Given the description of an element on the screen output the (x, y) to click on. 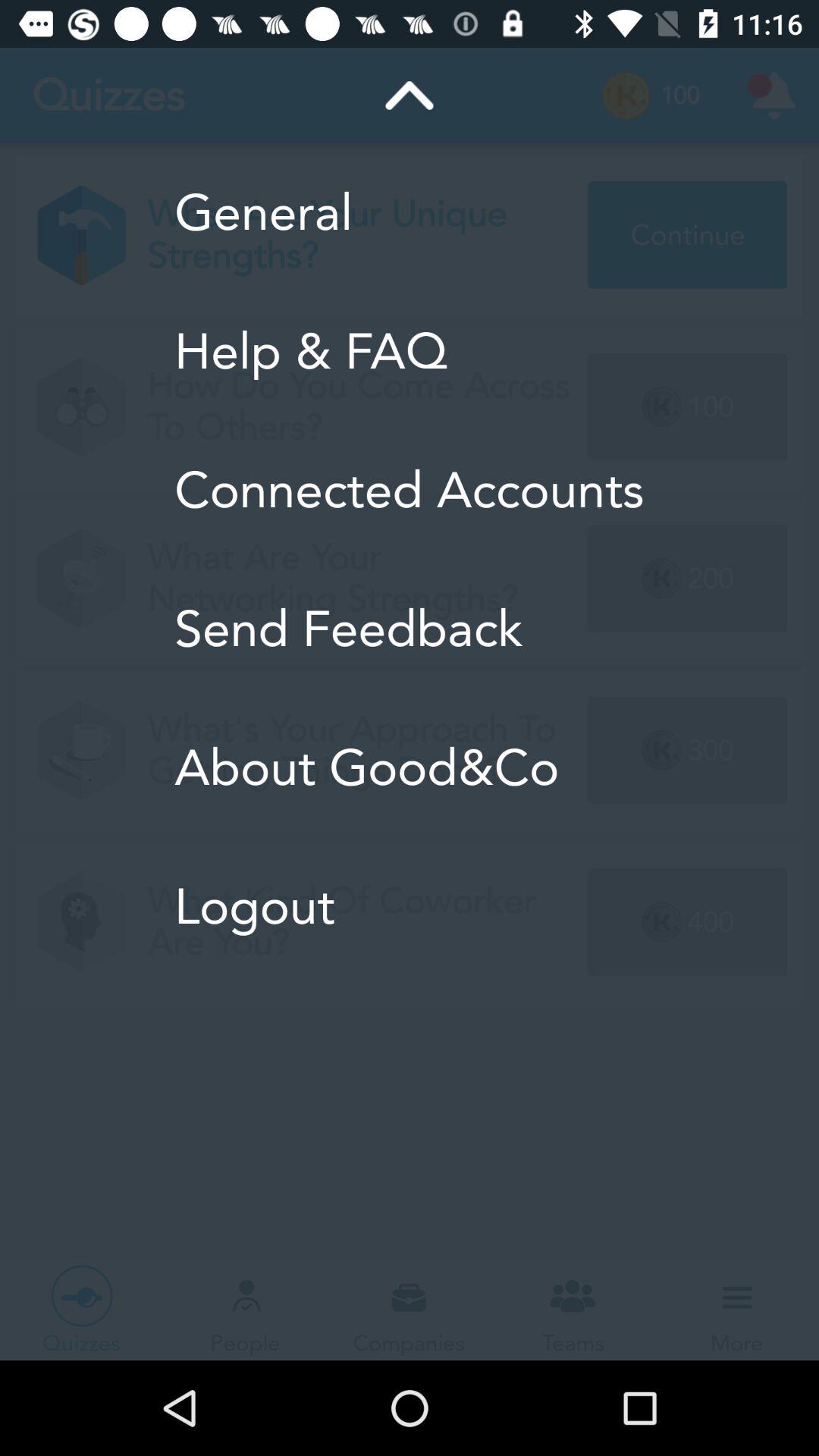
scroll until the send feedback icon (408, 628)
